Given the description of an element on the screen output the (x, y) to click on. 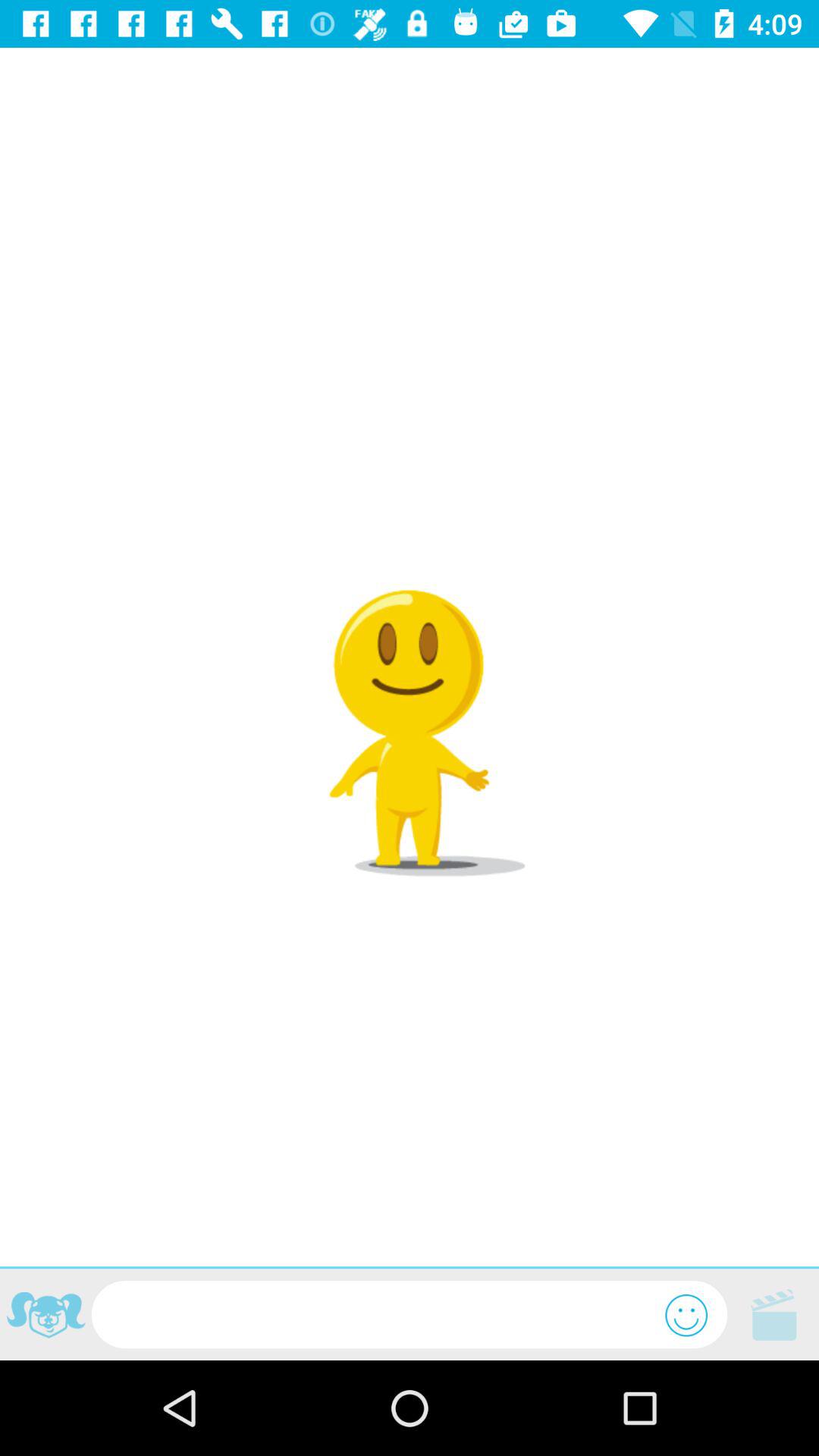
enter text here (378, 1314)
